Given the description of an element on the screen output the (x, y) to click on. 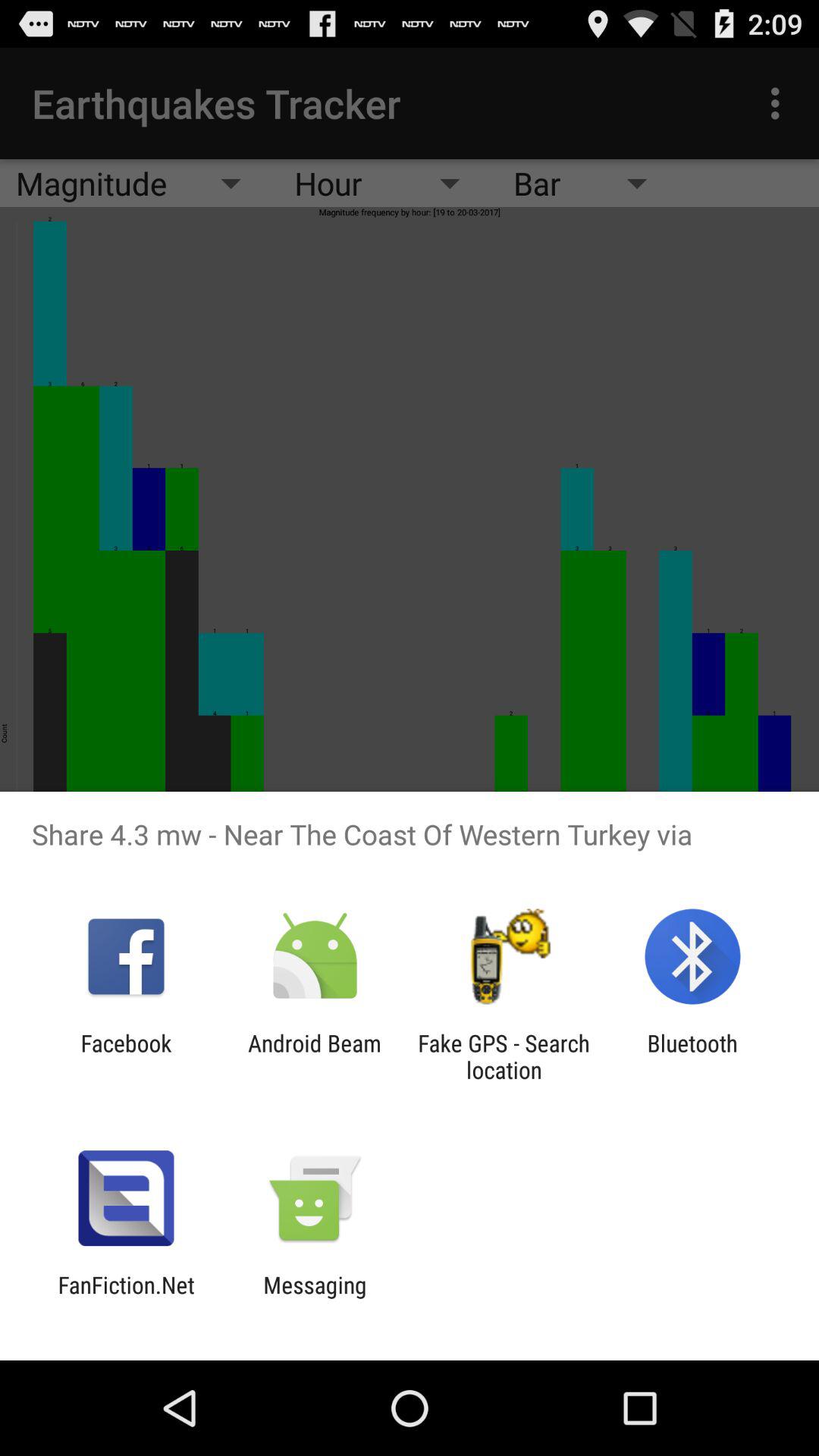
scroll to the facebook icon (125, 1056)
